Given the description of an element on the screen output the (x, y) to click on. 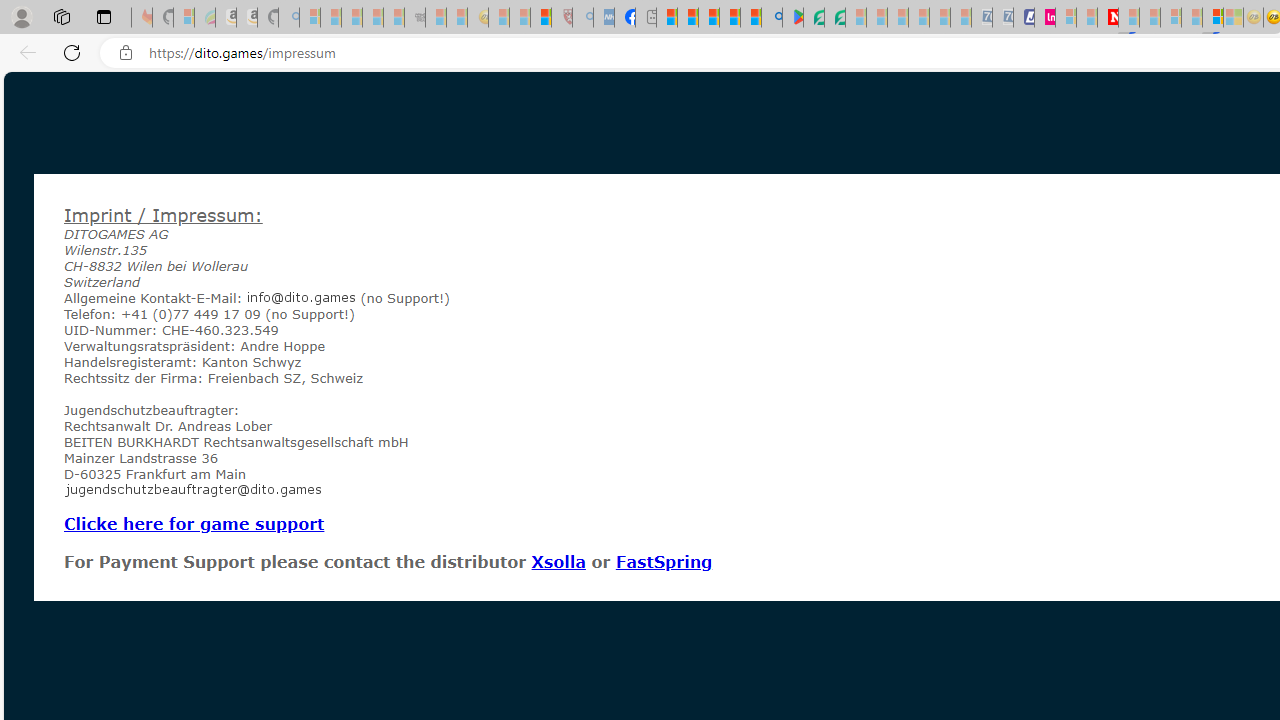
MSNBC - MSN (666, 17)
Cheap Car Rentals - Save70.com - Sleeping (981, 17)
Pets - MSN (729, 17)
Robert H. Shmerling, MD - Harvard Health - Sleeping (561, 17)
Xsolla (558, 561)
Microsoft-Report a Concern to Bing - Sleeping (184, 17)
Recipes - MSN - Sleeping (499, 17)
Microsoft Word - consumer-privacy address update 2.2021 (834, 17)
